Given the description of an element on the screen output the (x, y) to click on. 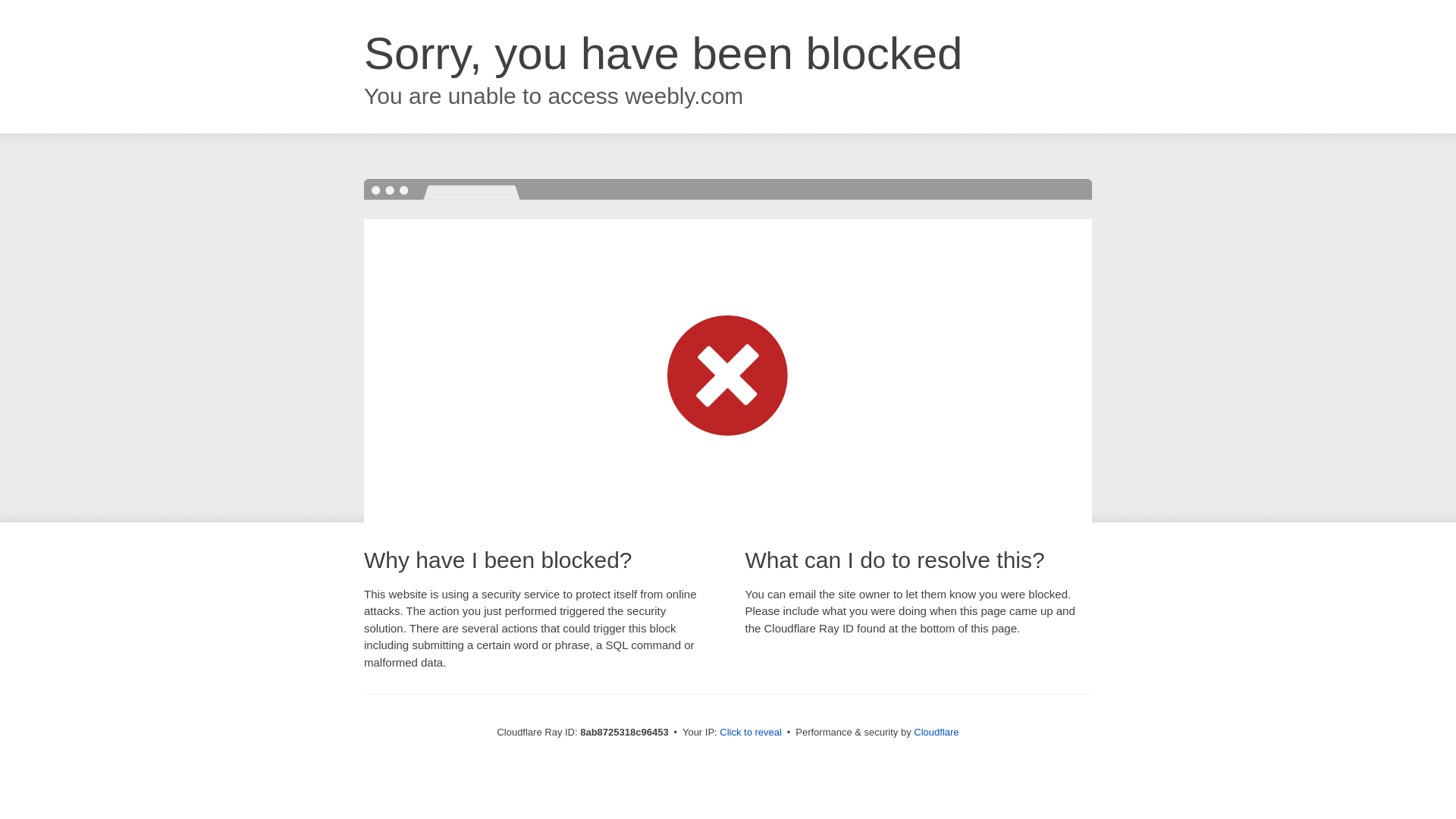
Cloudflare (936, 731)
Click to reveal (750, 732)
